Given the description of an element on the screen output the (x, y) to click on. 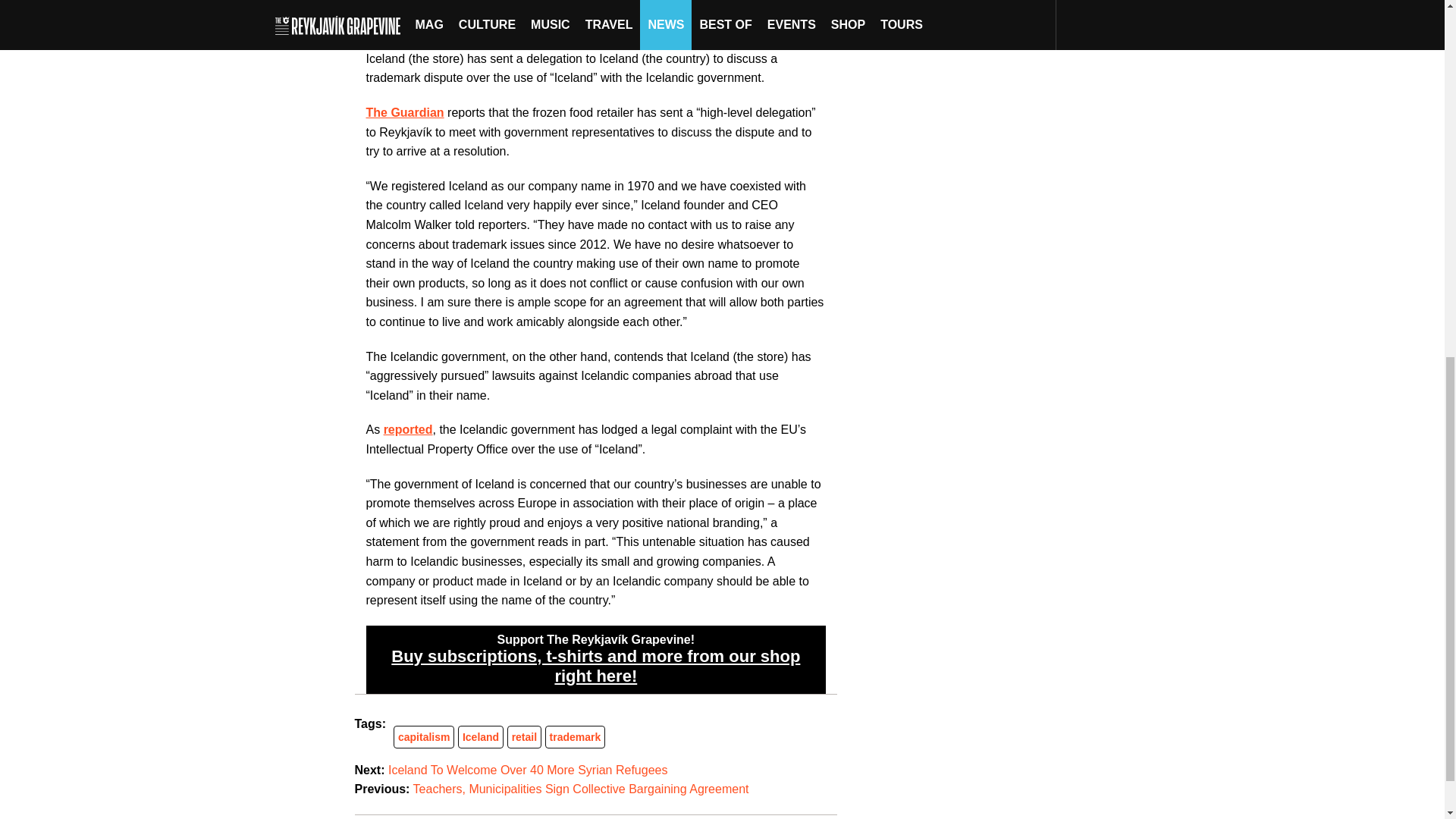
Tweet (381, 29)
Iceland To Welcome Over 40 More Syrian Refugees (527, 769)
reported (408, 429)
Iceland (481, 736)
capitalism (423, 736)
The Guardian (404, 112)
retail (524, 736)
trademark (575, 736)
